Given the description of an element on the screen output the (x, y) to click on. 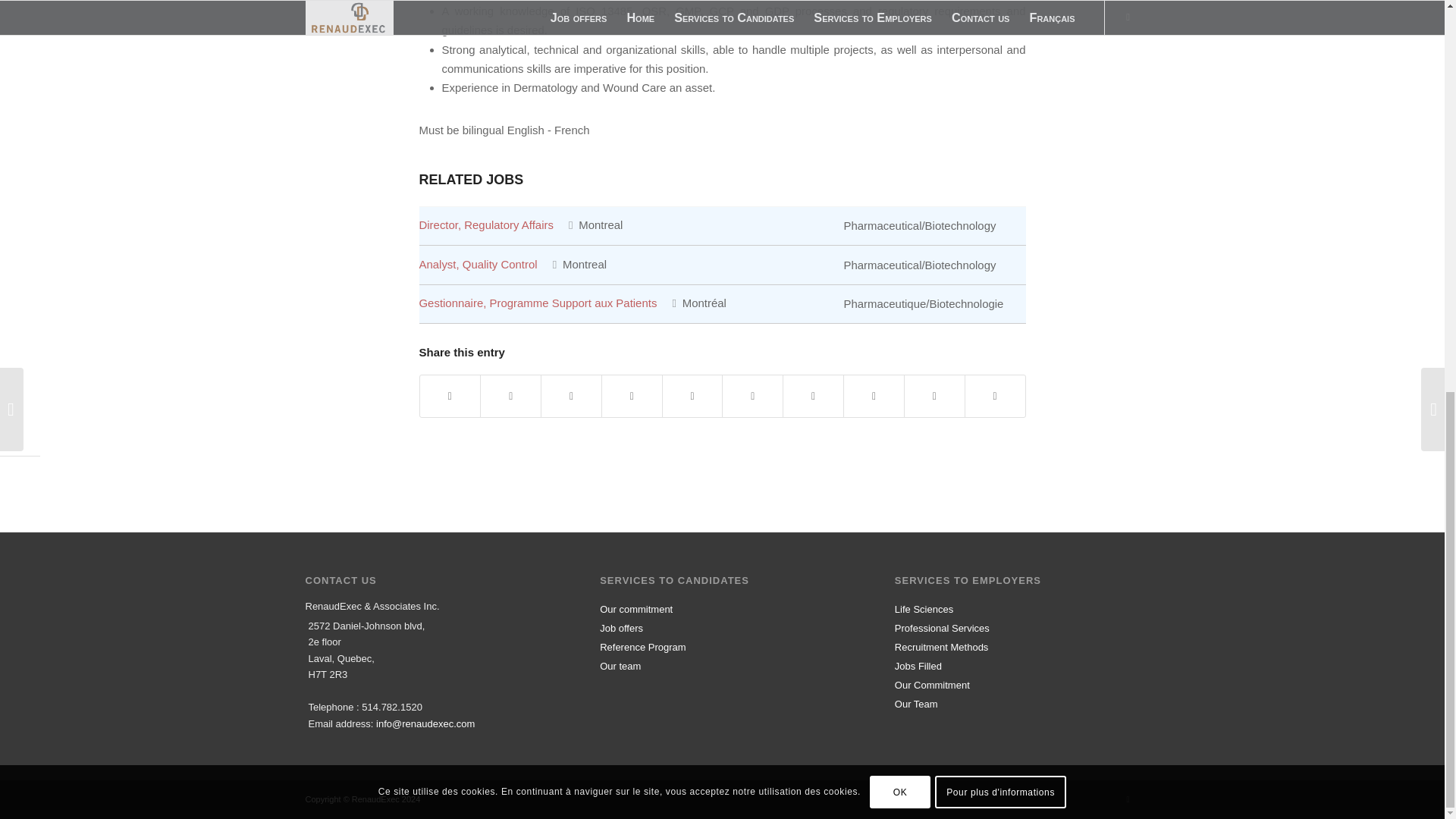
Recruitment Methods (1017, 645)
Professional Services (1017, 626)
Life Sciences (1017, 607)
Jobs Filled (1017, 664)
OK (899, 41)
Our commitment (721, 607)
Our team (721, 664)
Gestionnaire, Programme Support aux Patients (537, 302)
Director, Regulatory Affairs (486, 224)
Job offers (721, 626)
Our Commitment (1017, 683)
Analyst, Quality Control (478, 264)
Reference Program (721, 645)
Our Team (1017, 701)
